Given the description of an element on the screen output the (x, y) to click on. 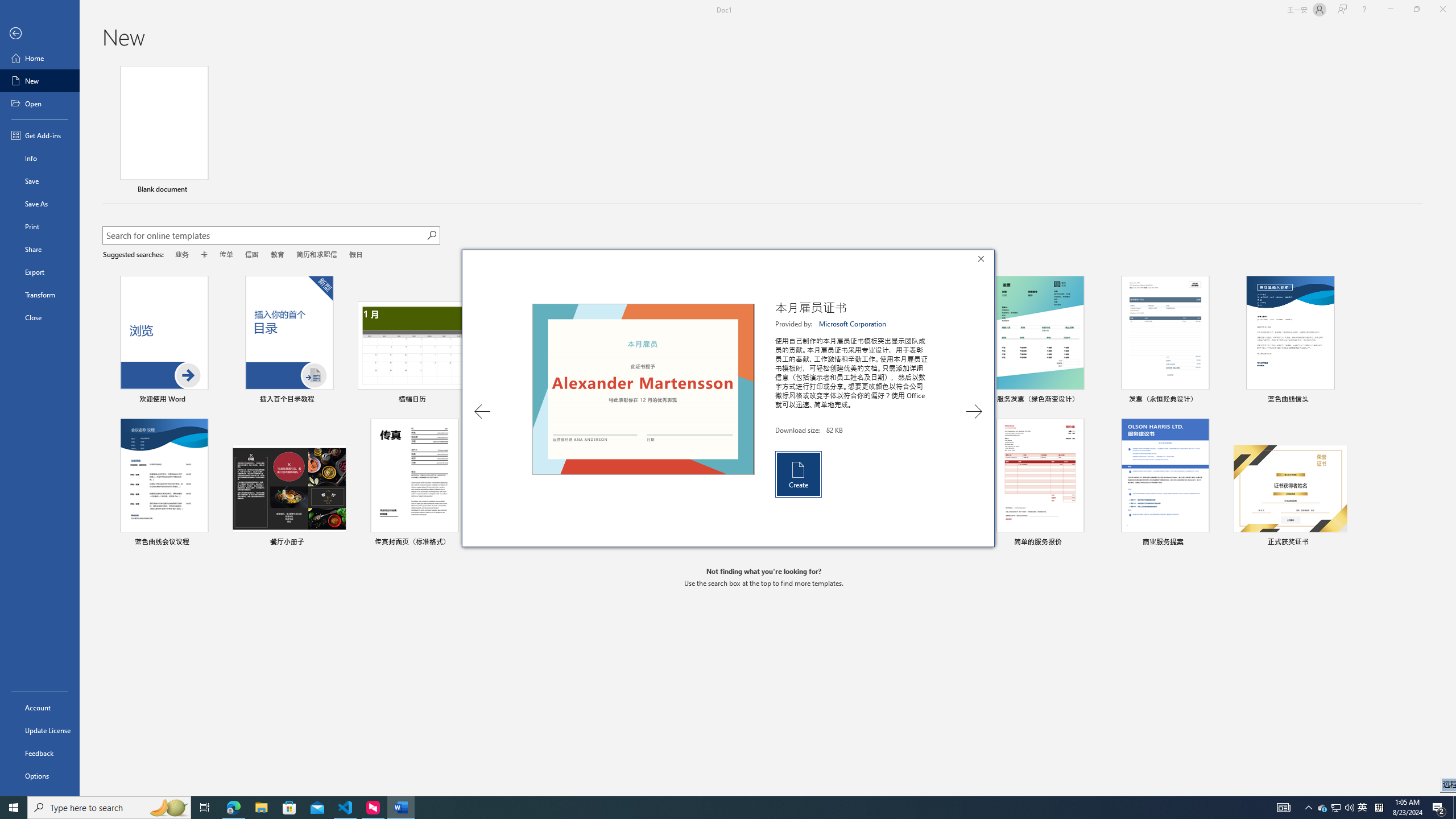
Search highlights icon opens search home window (1322, 807)
Options (167, 807)
Update License (40, 775)
Export (40, 730)
User Promoted Notification Area (40, 271)
File Explorer (1336, 807)
Microsoft Store (261, 807)
